Given the description of an element on the screen output the (x, y) to click on. 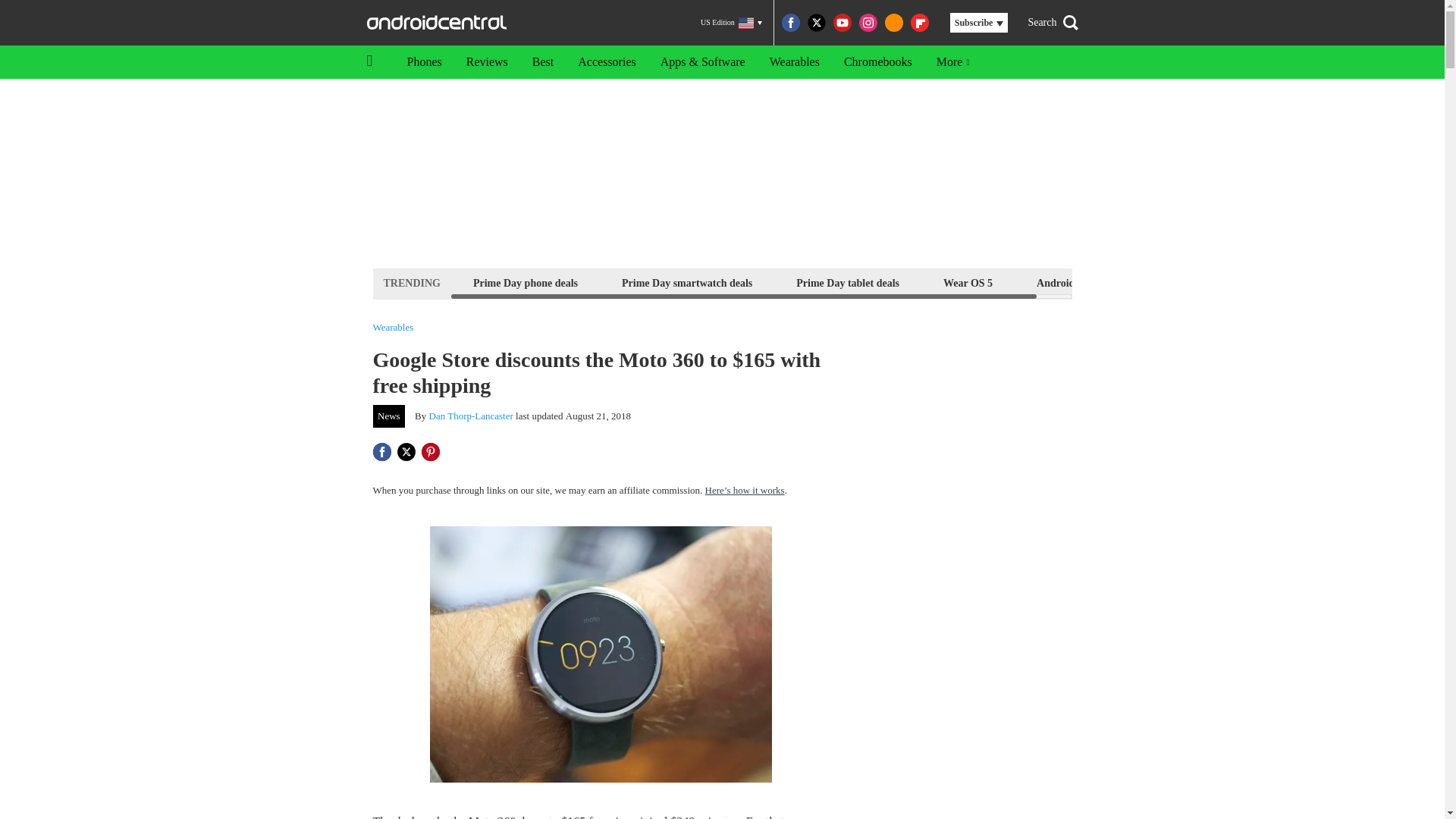
Wearables (794, 61)
Best (542, 61)
Prime Day smartwatch deals (686, 282)
Reviews (486, 61)
Wearables (392, 327)
Wear OS 5 (967, 282)
Prime Day tablet deals (847, 282)
Chromebooks (877, 61)
US Edition (731, 22)
Phones (423, 61)
Prime Day phone deals (525, 282)
Android 15 (1061, 282)
Accessories (606, 61)
